Given the description of an element on the screen output the (x, y) to click on. 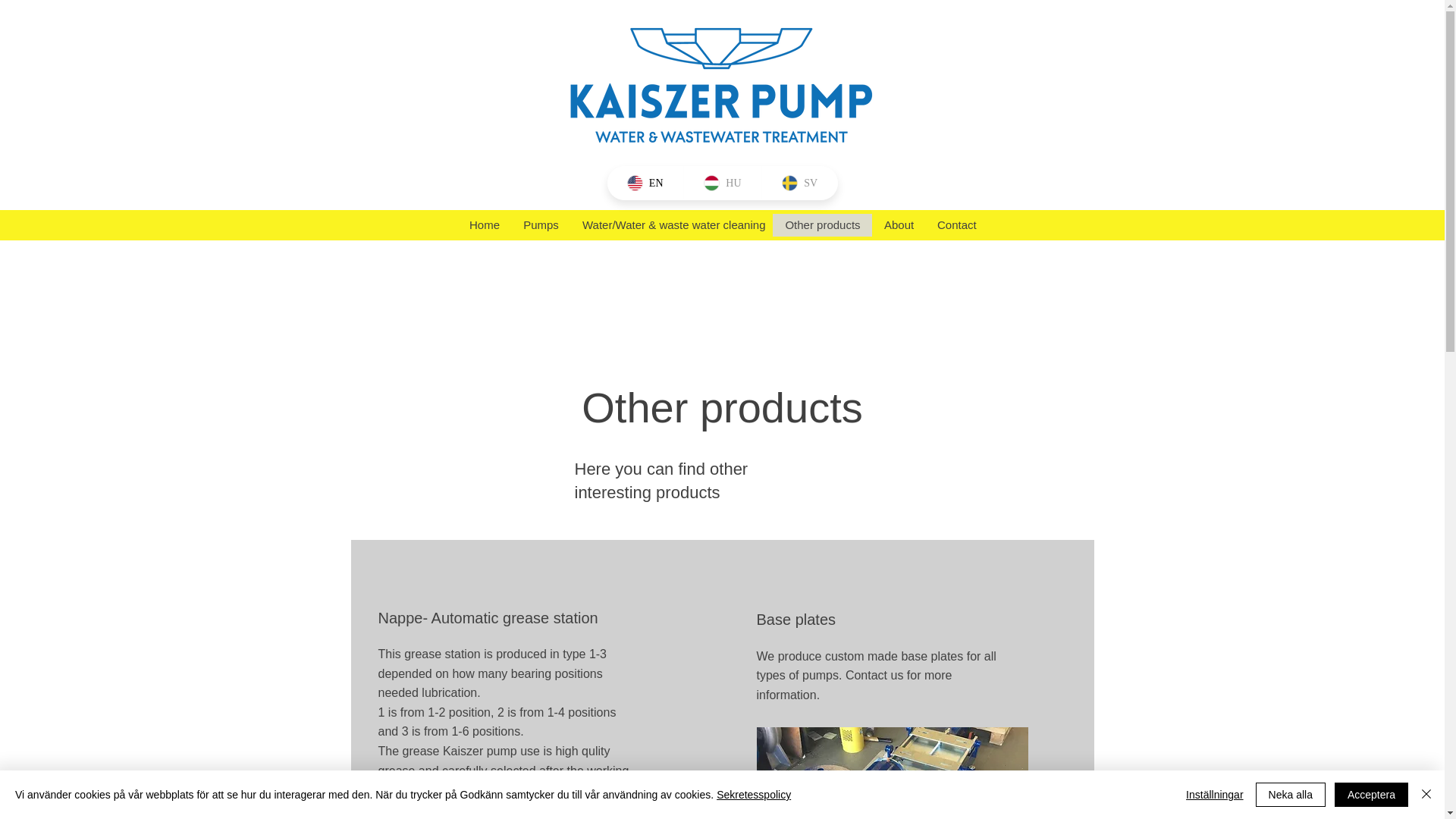
Acceptera (1371, 794)
Contact (955, 224)
HU (721, 182)
Other products (822, 224)
EN (644, 182)
Neka alla (1289, 794)
Sekretesspolicy (753, 794)
About (898, 224)
Home (484, 224)
Pumps (540, 224)
